Given the description of an element on the screen output the (x, y) to click on. 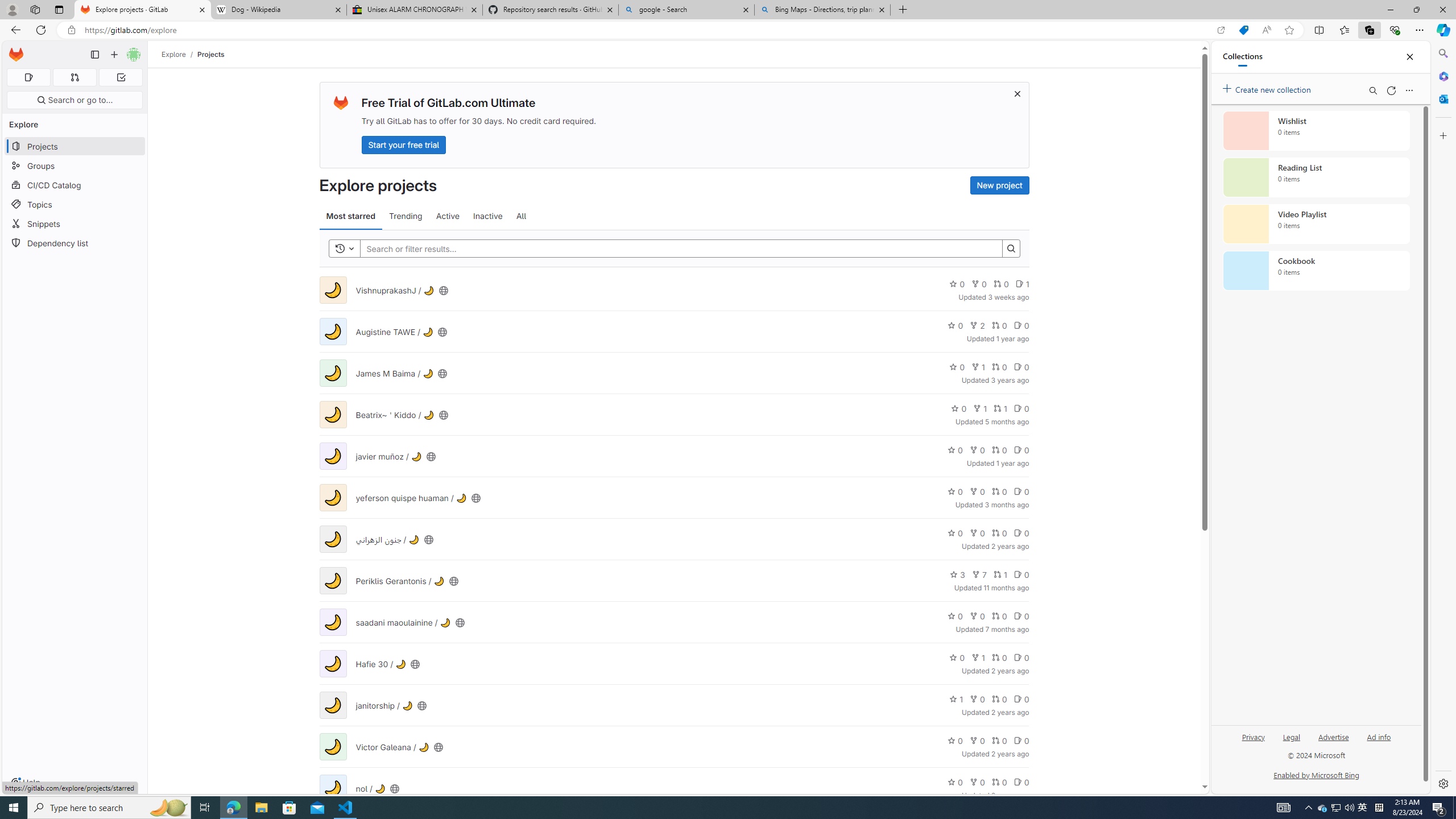
Primary navigation sidebar (94, 54)
Merge requests 0 (74, 76)
Cookbook collection, 0 items (1316, 270)
Advertise (1333, 741)
3 (957, 574)
CI/CD Catalog (74, 185)
Outlook (1442, 98)
Create new collection (1268, 87)
Dog - Wikipedia (277, 9)
Topics (74, 203)
